Given the description of an element on the screen output the (x, y) to click on. 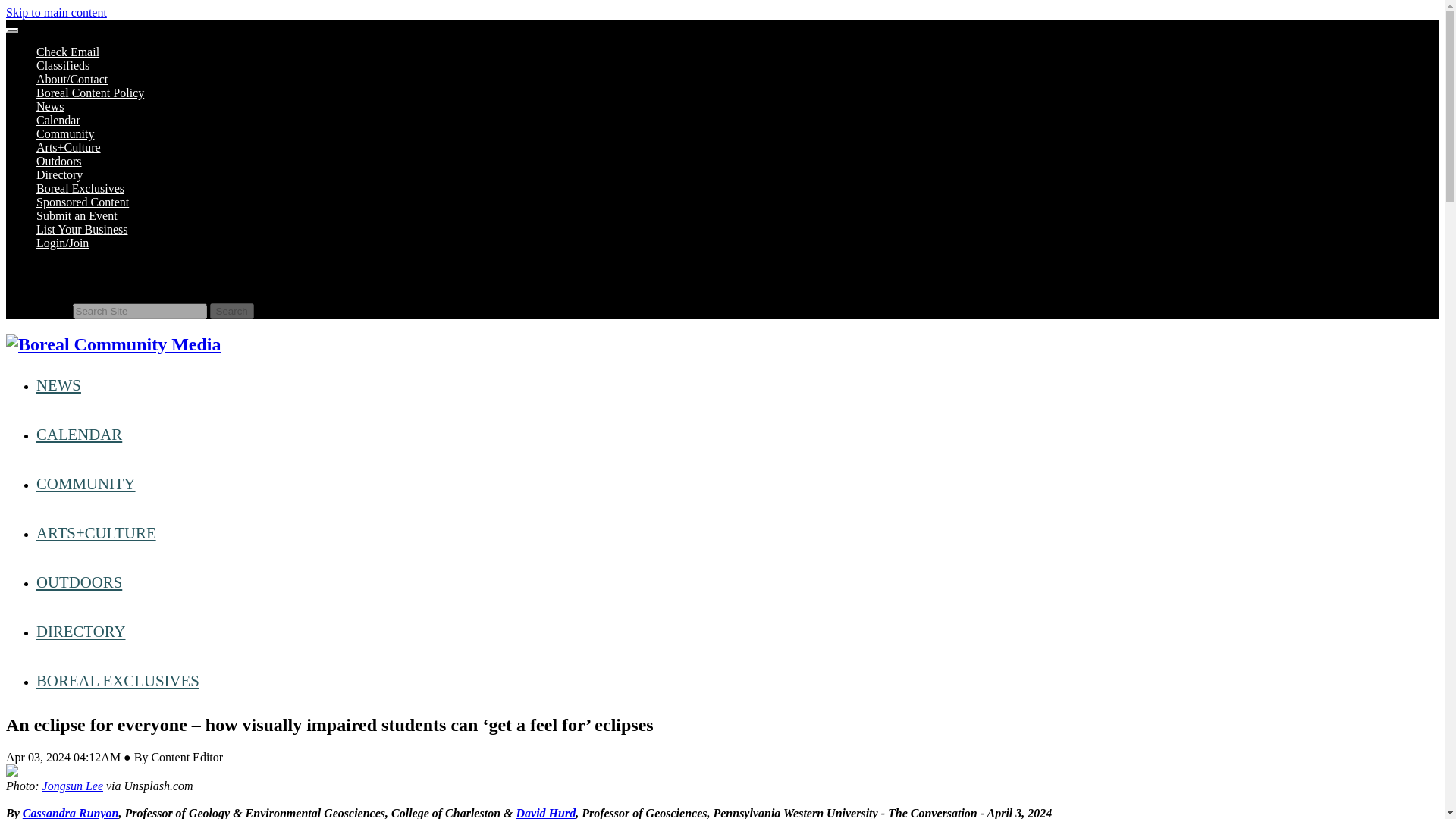
BOREAL EXCLUSIVES (117, 680)
DIRECTORY (80, 630)
Boreal Exclusives (79, 187)
Community (65, 133)
COMMUNITY (85, 483)
Cassandra Runyon (71, 812)
Outdoors (58, 160)
News (50, 106)
NEWS (58, 384)
Calendar (58, 119)
